Given the description of an element on the screen output the (x, y) to click on. 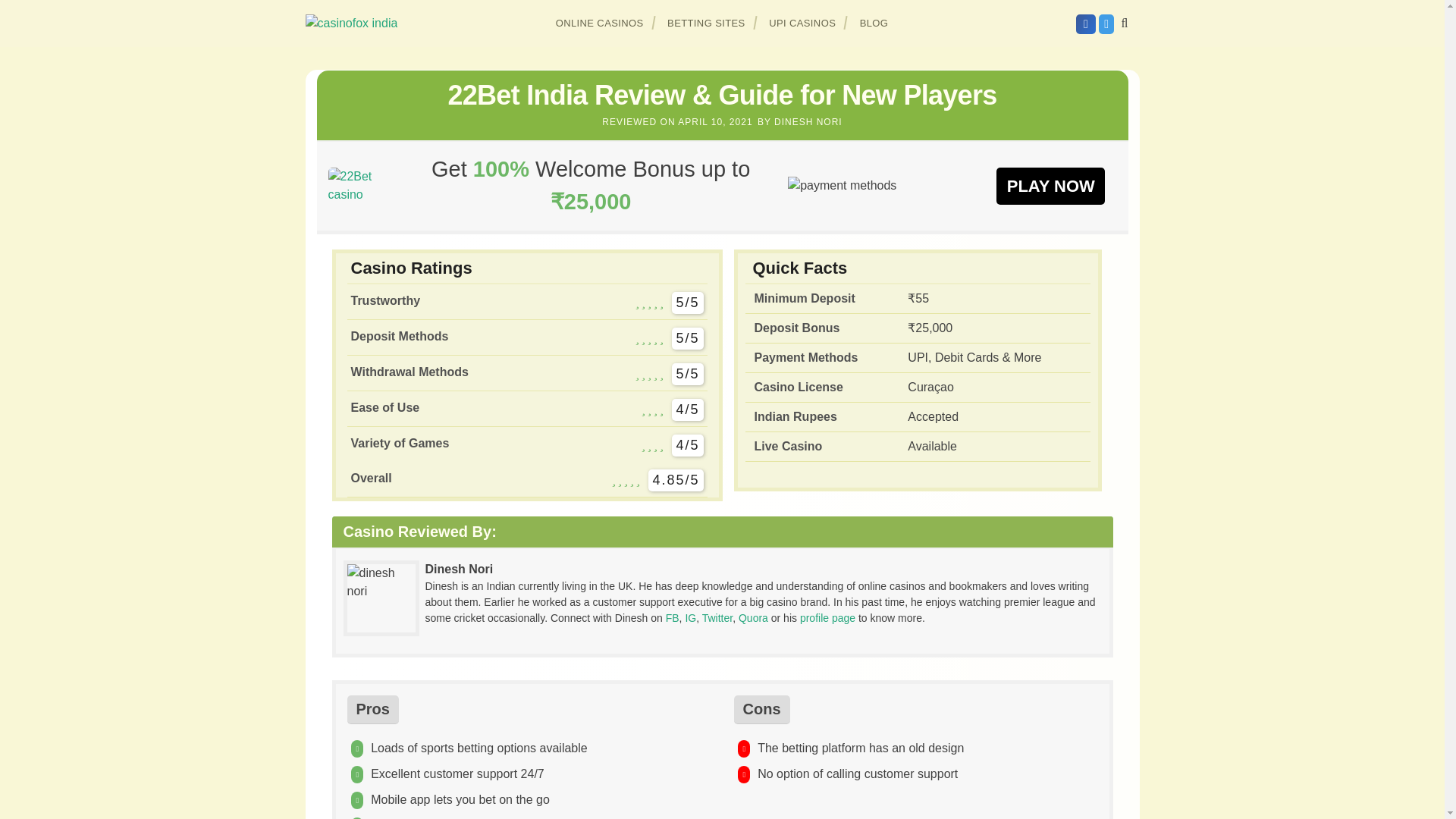
PLAY NOW (1050, 185)
FB (672, 617)
Quora (753, 617)
IG (689, 617)
ONLINE CASINOS (599, 23)
BLOG (874, 23)
BETTING SITES (706, 23)
22Bet (1050, 185)
22Bet (360, 185)
UPI CASINOS (801, 23)
